Given the description of an element on the screen output the (x, y) to click on. 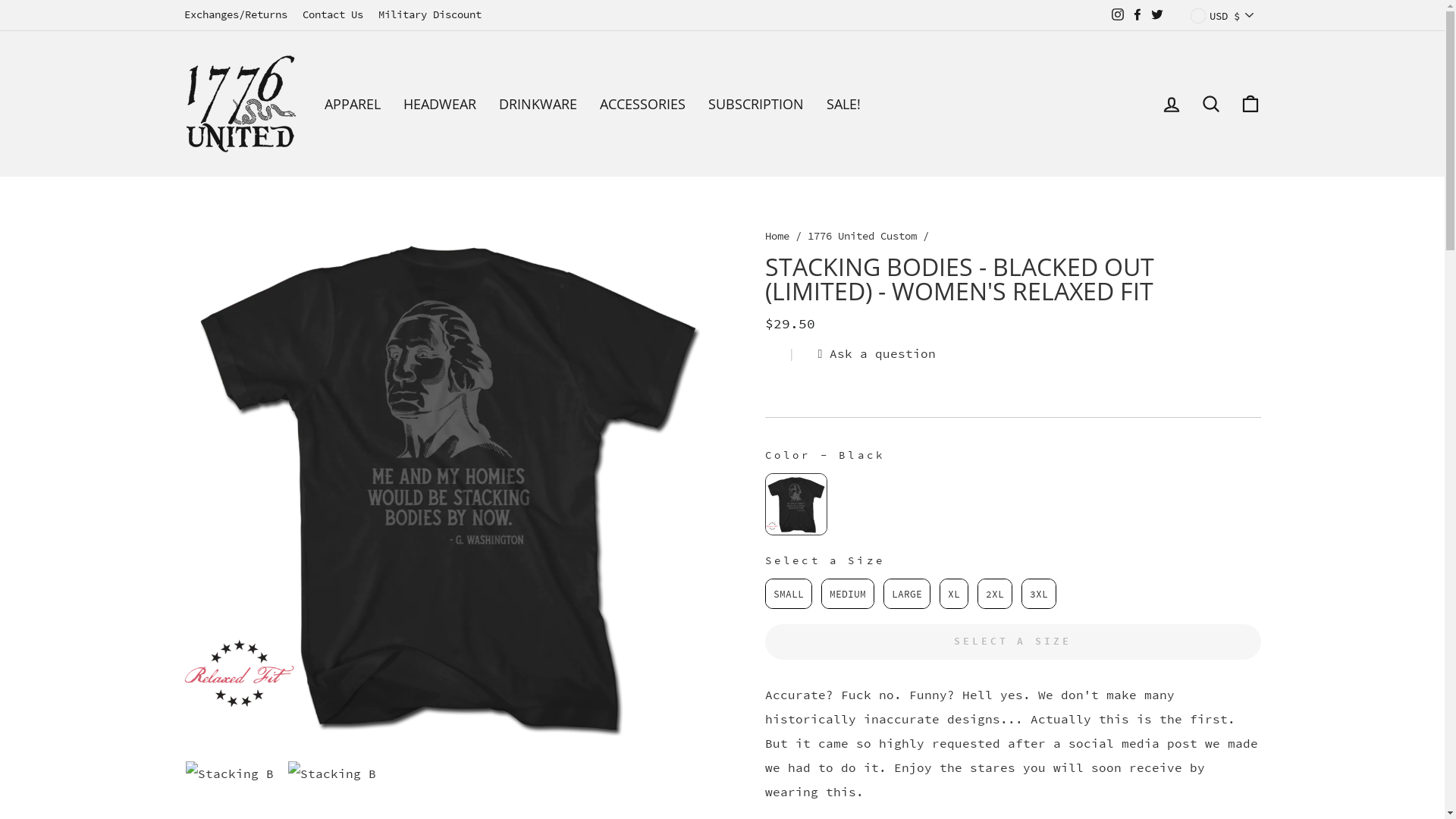
CART Element type: text (1249, 103)
Home Element type: text (776, 235)
1776 United Custom Element type: text (861, 235)
ACCESSORIES Element type: text (642, 103)
DRINKWARE Element type: text (536, 103)
USD $ Element type: text (1220, 15)
SEARCH Element type: text (1210, 103)
SUBSCRIPTION Element type: text (755, 103)
Contact Us Element type: text (332, 14)
Military Discount Element type: text (429, 14)
LOG IN Element type: text (1170, 103)
Exchanges/Returns Element type: text (234, 14)
Instagram Element type: text (1116, 14)
SELECT A SIZE Element type: text (1012, 641)
Facebook Element type: text (1136, 14)
Skip to content Element type: text (0, 0)
Twitter Element type: text (1156, 14)
HEADWEAR Element type: text (438, 103)
APPAREL Element type: text (351, 103)
SALE! Element type: text (842, 103)
